Given the description of an element on the screen output the (x, y) to click on. 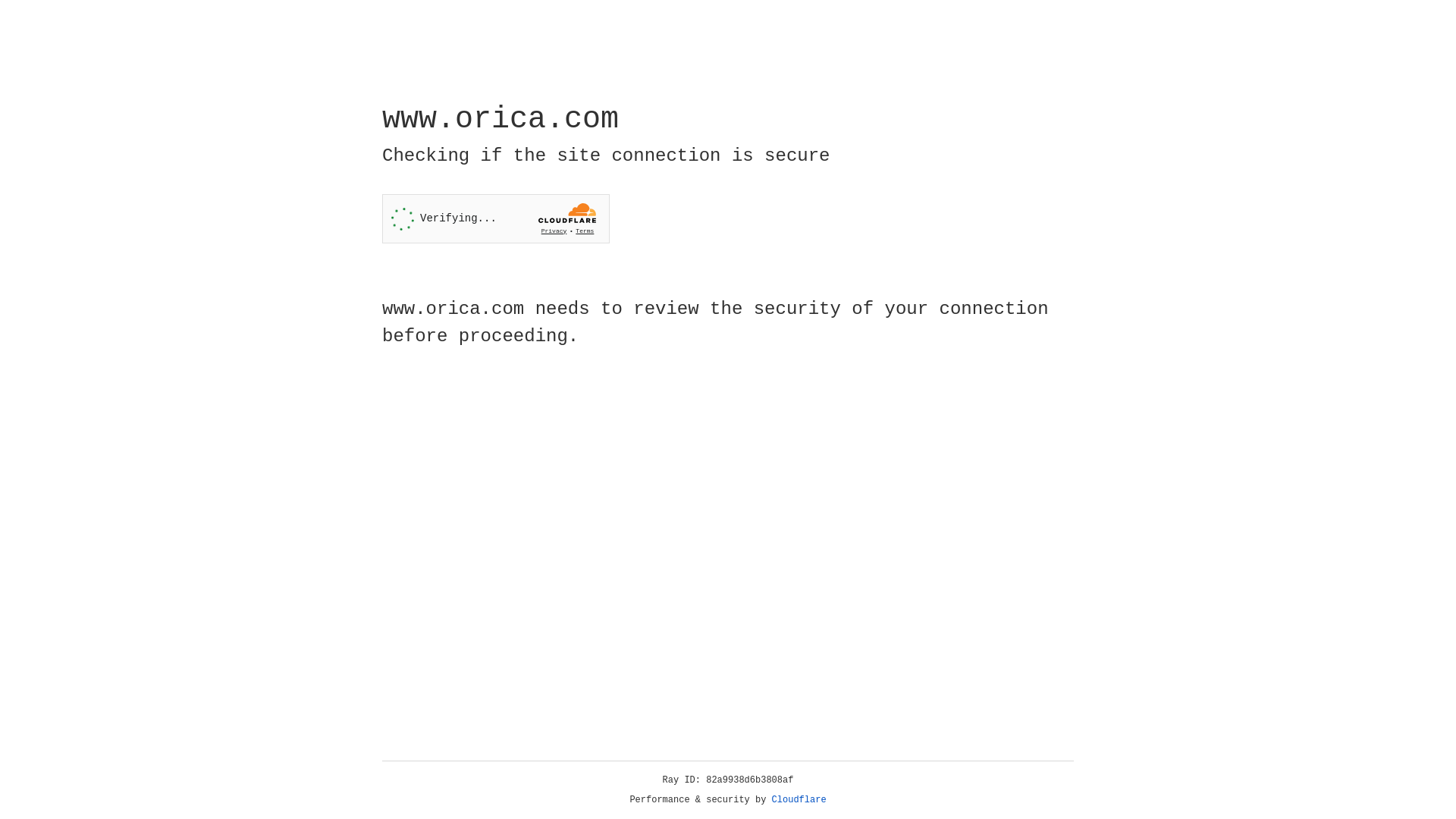
Widget containing a Cloudflare security challenge Element type: hover (495, 218)
Cloudflare Element type: text (798, 799)
